Given the description of an element on the screen output the (x, y) to click on. 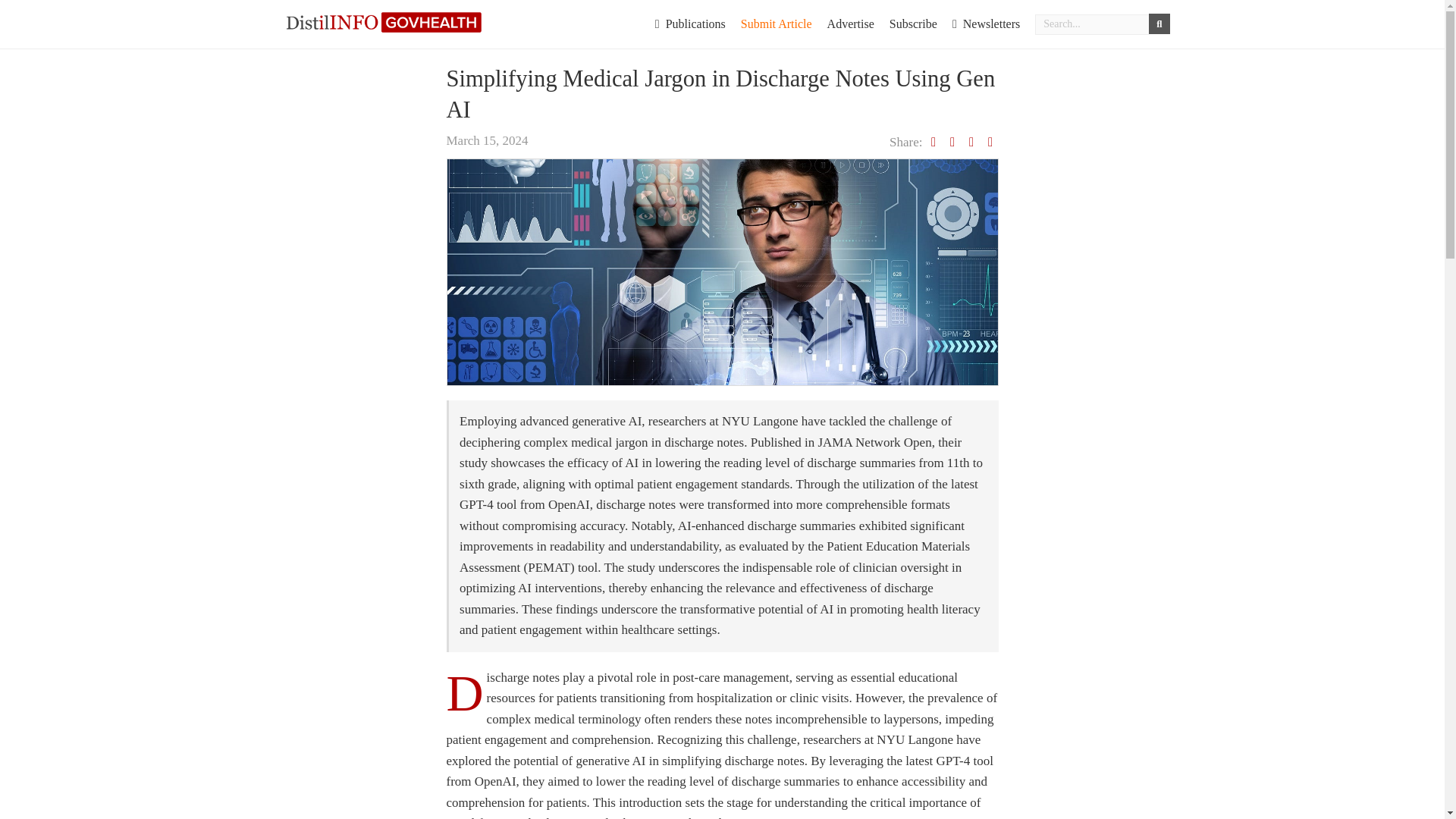
Publications (690, 24)
DistilINFO GovHealth Advisory (384, 21)
Newsletters Archive (985, 24)
Newsletters (985, 24)
Advertise (850, 24)
Subscribe (913, 24)
Submit Article (776, 24)
